Given the description of an element on the screen output the (x, y) to click on. 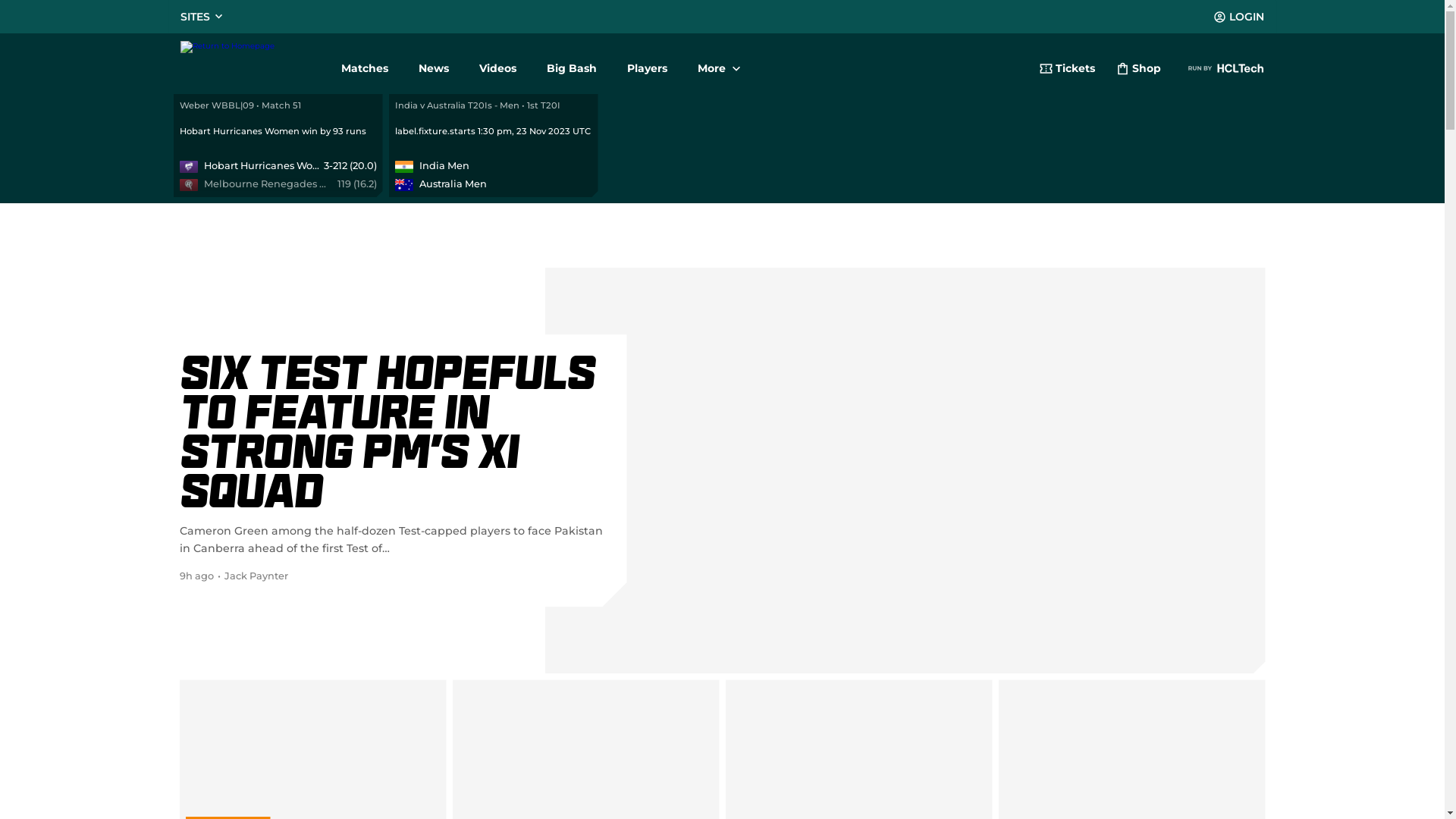
Return to Homepage Element type: hover (248, 62)
Big Bash Element type: text (570, 62)
Videos Element type: text (497, 62)
Tickets Element type: text (1066, 70)
Matches Element type: text (364, 62)
More Element type: text (718, 62)
Shop
(opens new window) Element type: text (1138, 70)
News Element type: text (433, 62)
Players Element type: text (646, 62)
